Given the description of an element on the screen output the (x, y) to click on. 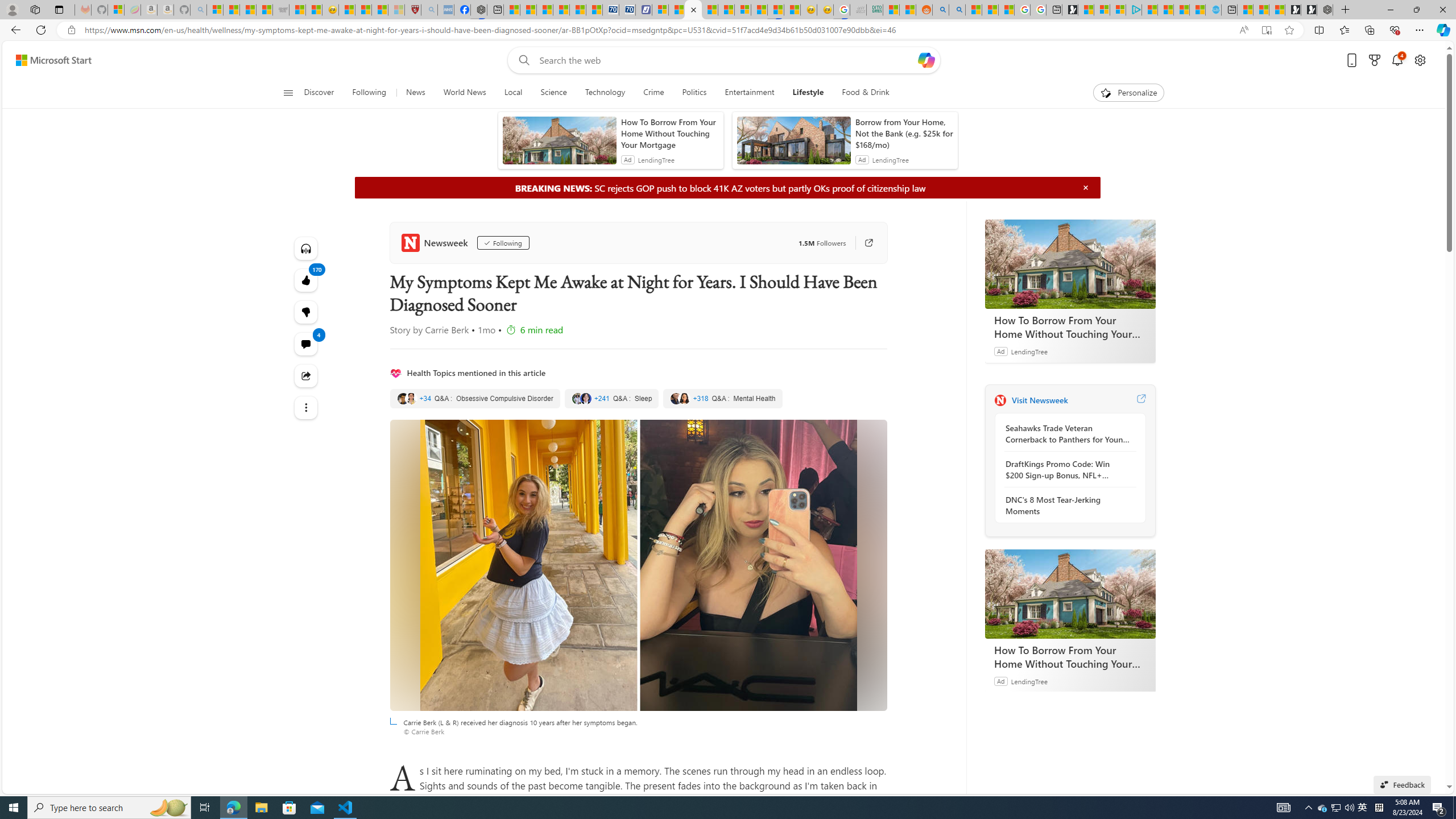
Class: at-item (305, 407)
Nordace - Nordace Siena Is Not An Ordinary Backpack (1324, 9)
Crime (653, 92)
list of asthma inhalers uk - Search - Sleeping (429, 9)
To get missing image descriptions, open the context menu. (1105, 92)
Utah sues federal government - Search (956, 9)
Technology (604, 92)
Microsoft rewards (1374, 60)
170 (305, 312)
